Given the description of an element on the screen output the (x, y) to click on. 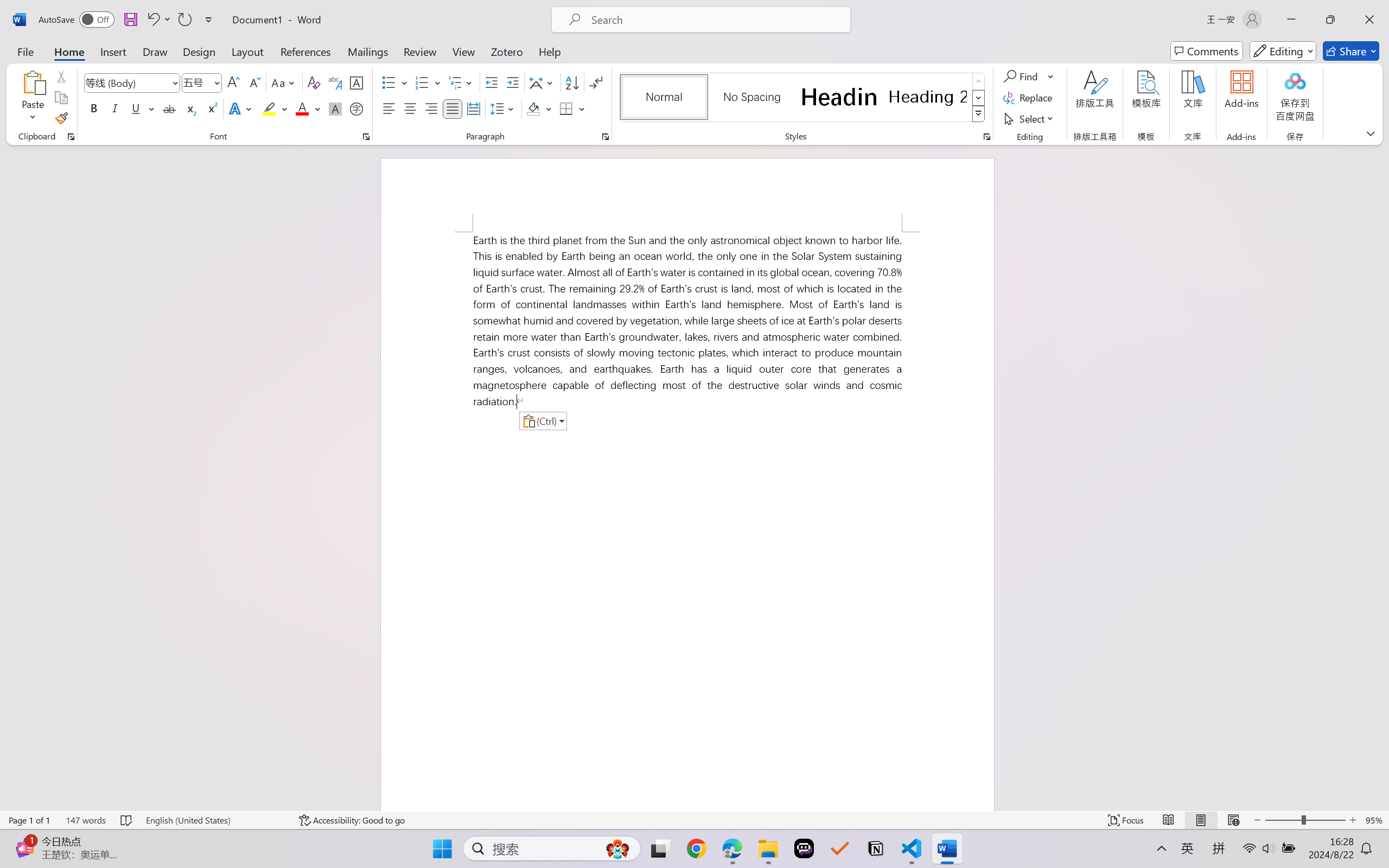
Styles (978, 113)
Action: Paste alternatives (542, 420)
Text Highlight Color (274, 108)
Office Clipboard... (70, 136)
Phonetic Guide... (334, 82)
Microsoft search (715, 19)
Undo Paste Text Only (158, 19)
Copy (60, 97)
Change Case (284, 82)
